Given the description of an element on the screen output the (x, y) to click on. 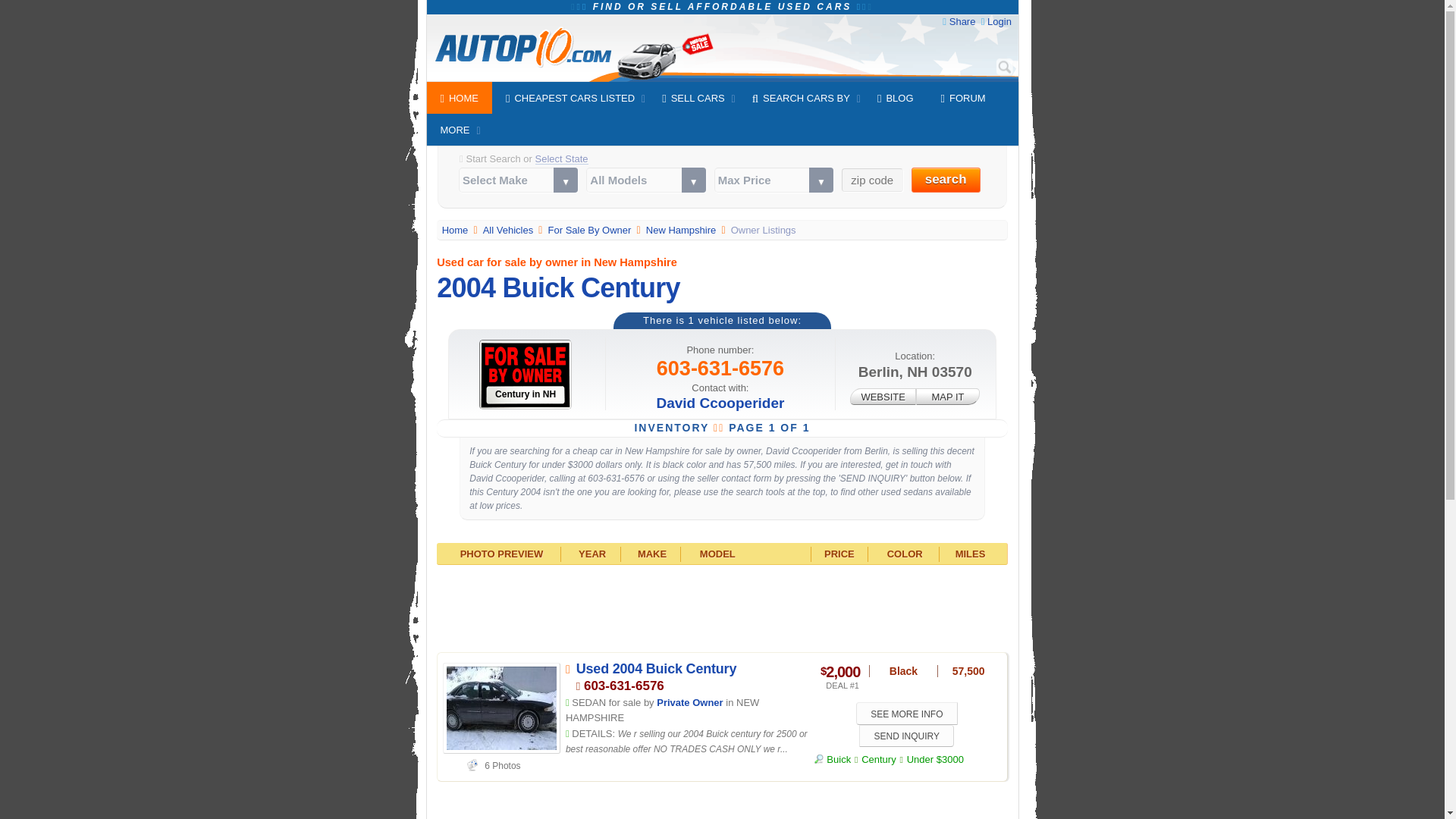
Seller info (689, 702)
WEBSITE (882, 396)
seller comments... (687, 741)
Search (1004, 66)
BLOG (895, 97)
SELL CARS (692, 97)
Autopten.com Home (456, 229)
All Vehicles (509, 229)
This link is disabled (882, 396)
SEE MORE INFO (907, 712)
Browse all Buick cars listed (831, 758)
Browse the entire listing of cars for sale (509, 229)
MAP IT (947, 396)
Buick (831, 758)
CHEAPEST CARS LISTED (569, 97)
